Given the description of an element on the screen output the (x, y) to click on. 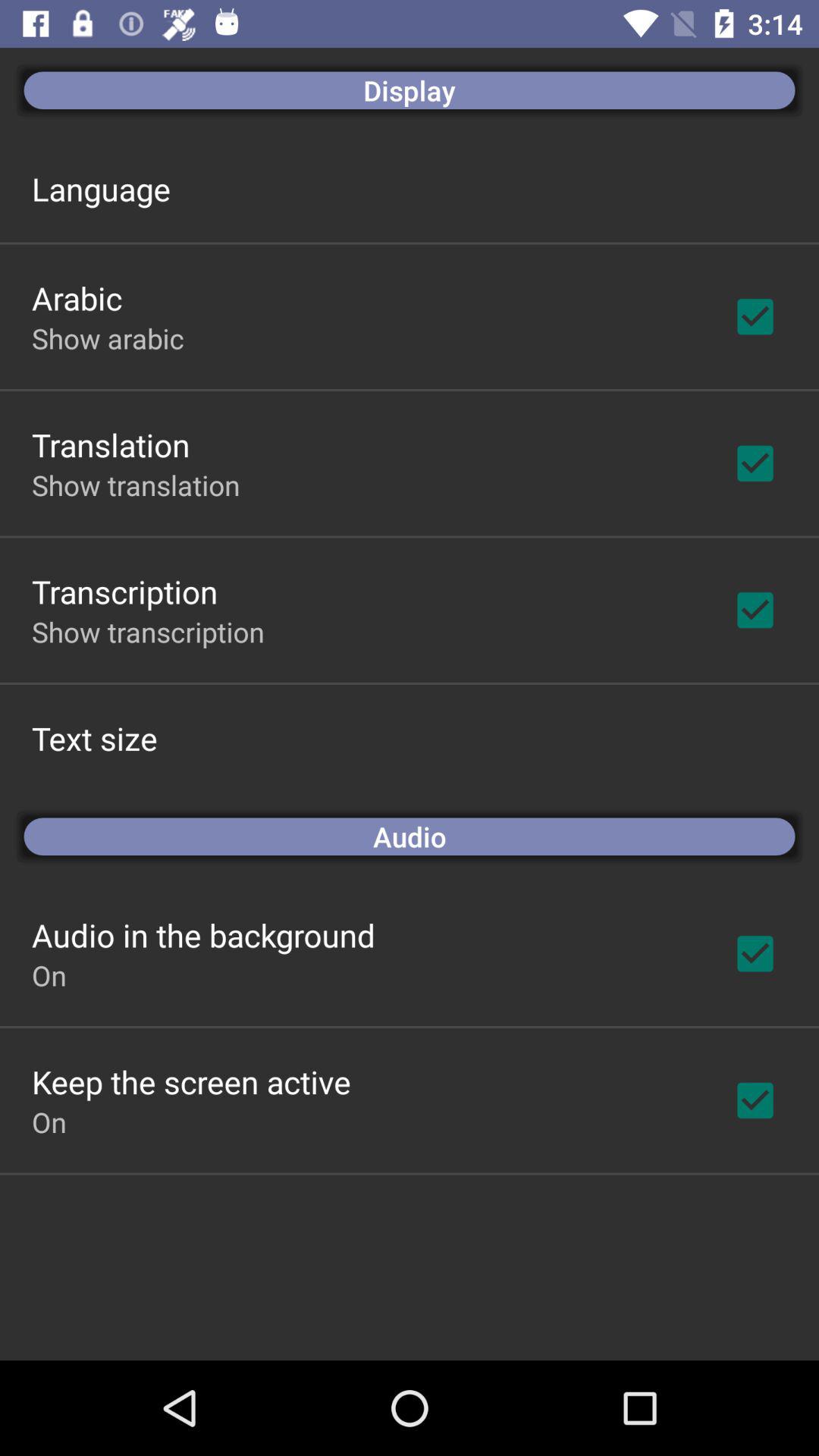
tap the app below audio app (203, 934)
